Given the description of an element on the screen output the (x, y) to click on. 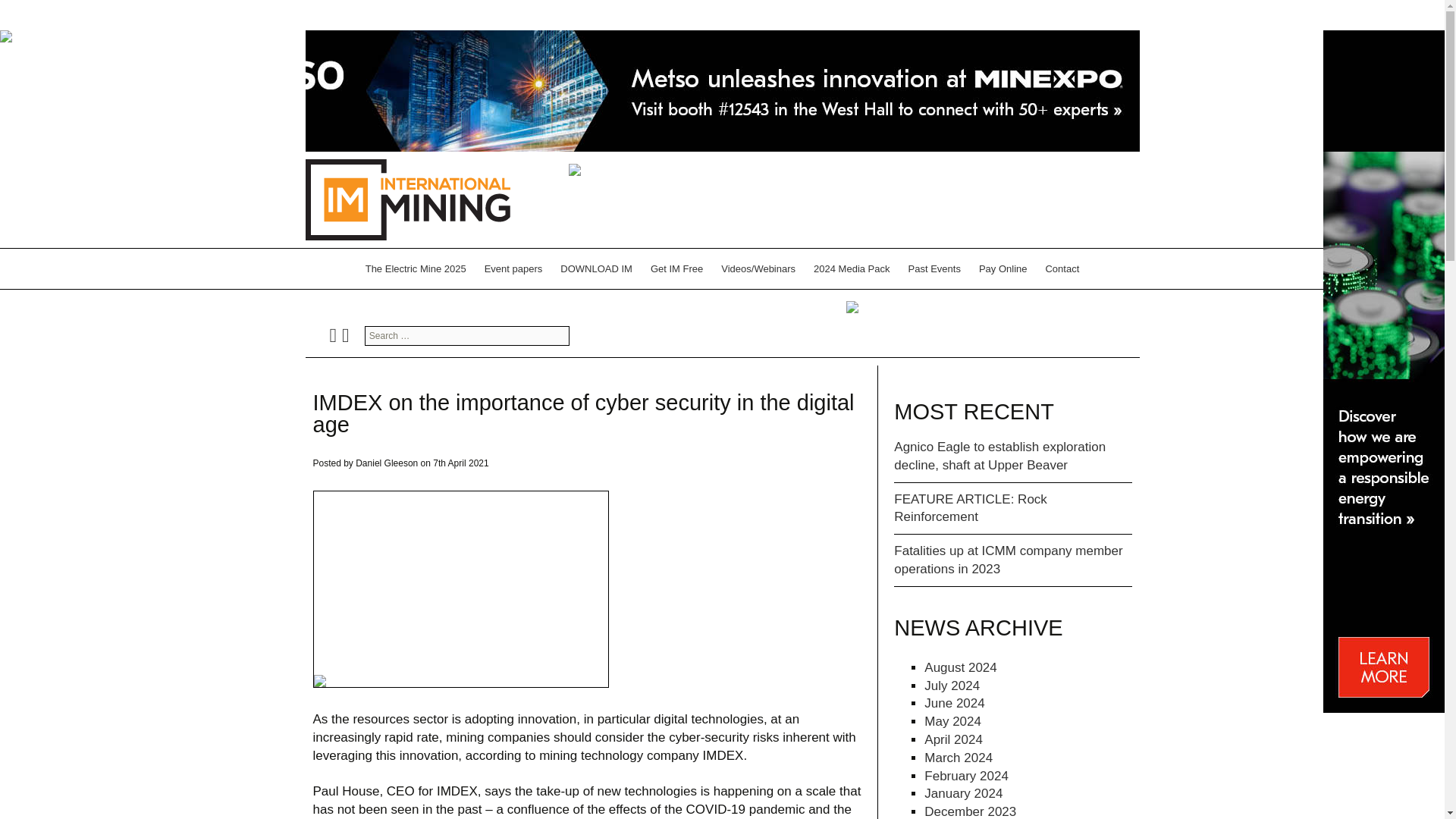
Contact (1062, 268)
FEATURE ARTICLE: Rock Reinforcement (969, 508)
Event papers (513, 268)
Get IM Free (676, 268)
International Mining (406, 199)
June 2024 (954, 703)
2024 Media Pack (851, 268)
Pay Online (1002, 268)
August 2024 (959, 667)
Past Events (933, 268)
DOWNLOAD IM (596, 268)
Fatalities up at ICMM company member operations in 2023 (1007, 559)
May 2024 (952, 721)
July 2024 (951, 685)
